Given the description of an element on the screen output the (x, y) to click on. 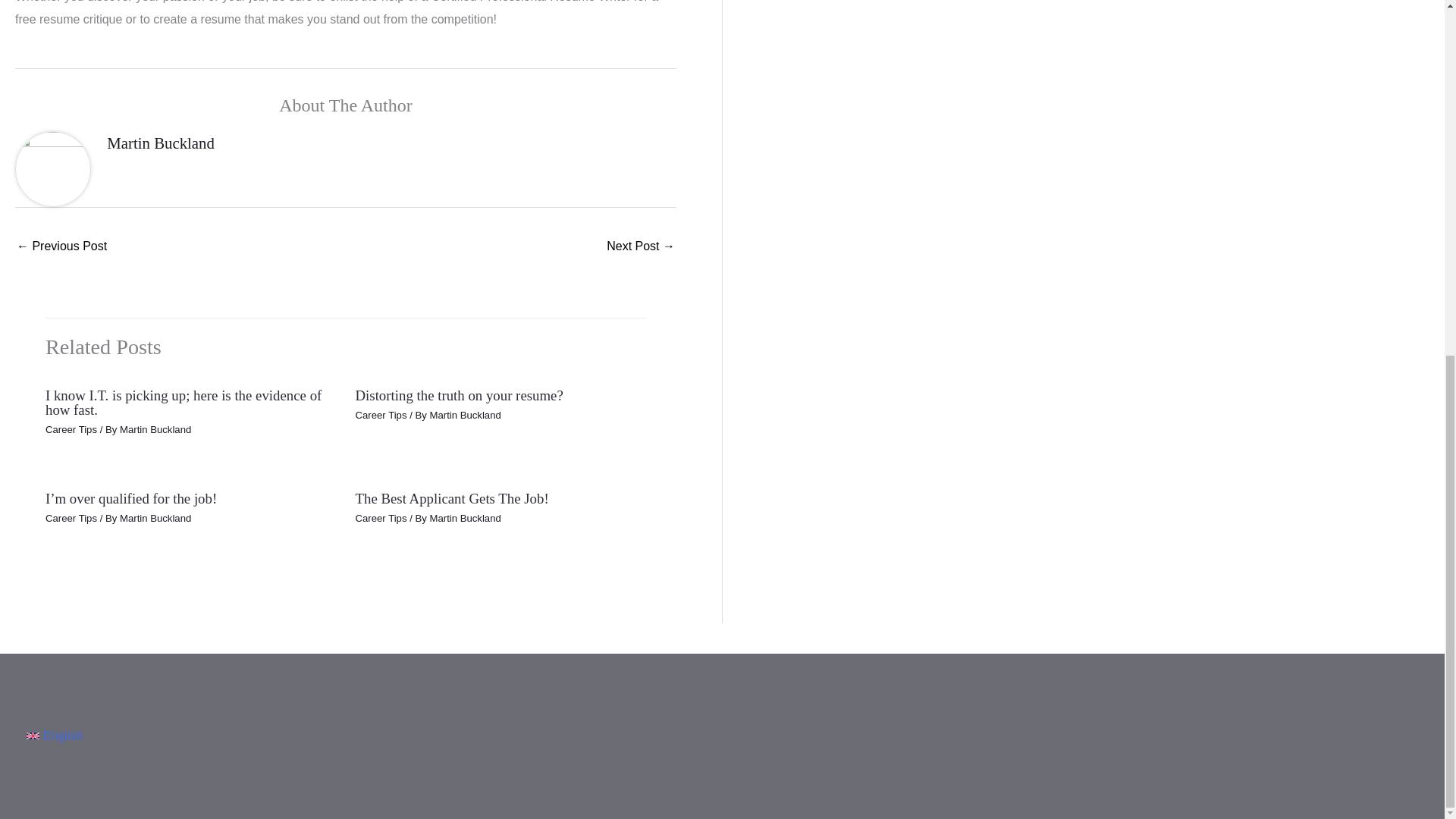
Retirement or Career Transition? (61, 247)
Martin Buckland (160, 142)
Career Tips (71, 429)
View all posts by Martin Buckland (464, 518)
I know I.T. is picking up; here is the evidence of how fast. (183, 402)
Distorting the truth on your resume? (458, 395)
View all posts by Martin Buckland (464, 414)
View all posts by Martin Buckland (154, 518)
Martin Buckland (154, 429)
Networking Nets Positive Results! (641, 247)
View all posts by Martin Buckland (154, 429)
Career Tips (380, 414)
